Given the description of an element on the screen output the (x, y) to click on. 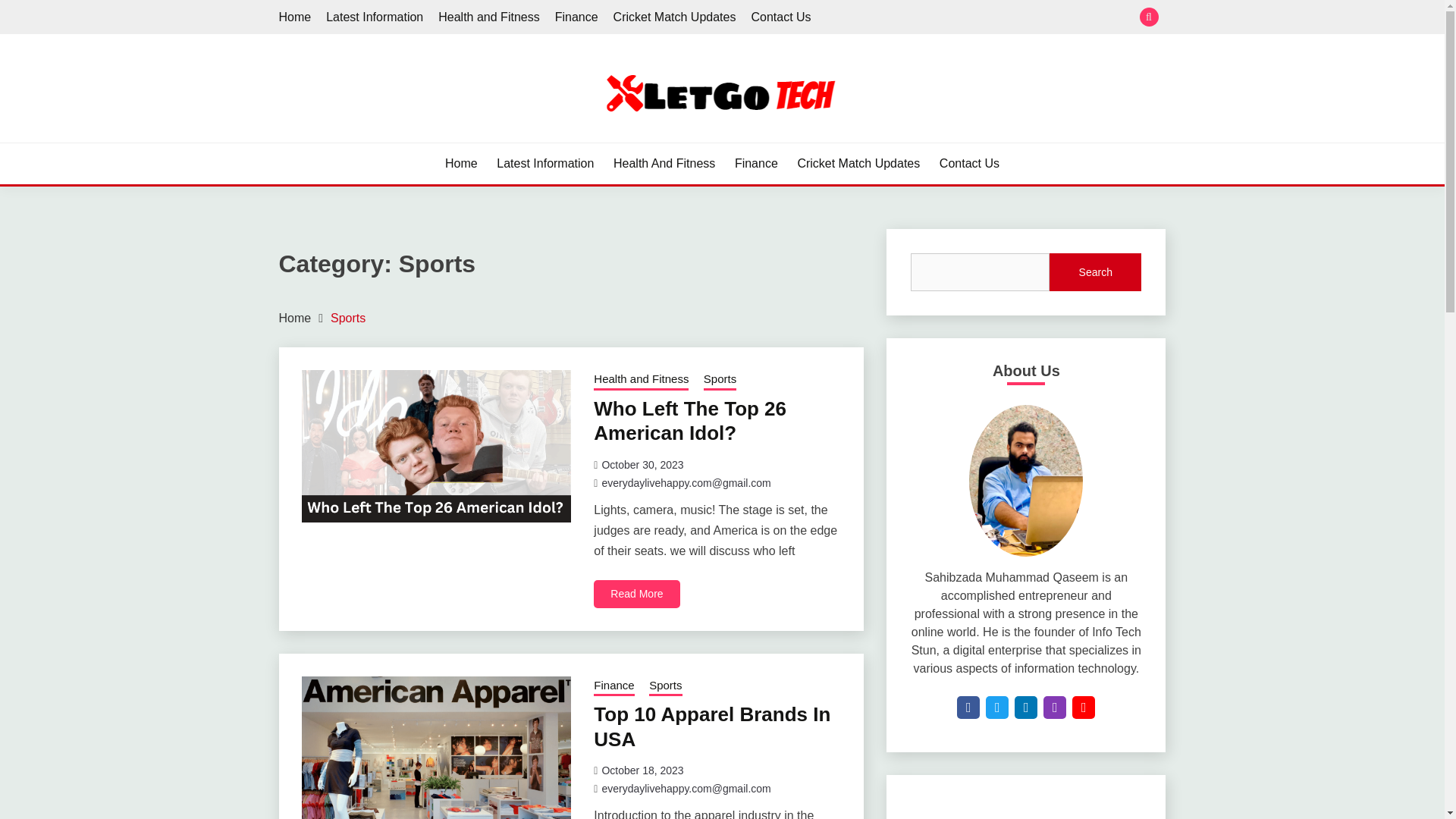
Contact Us (968, 163)
Health and Fitness (641, 380)
LETGO TECH (368, 140)
Contact Us (780, 16)
Home (461, 163)
Finance (613, 686)
Sports (665, 686)
Finance (576, 16)
Who Left The Top 26 American Idol? (690, 421)
October 30, 2023 (641, 464)
Cricket Match Updates (858, 163)
Latest Information (545, 163)
Cricket Match Updates (674, 16)
Health and Fitness (488, 16)
Latest Information (374, 16)
